Given the description of an element on the screen output the (x, y) to click on. 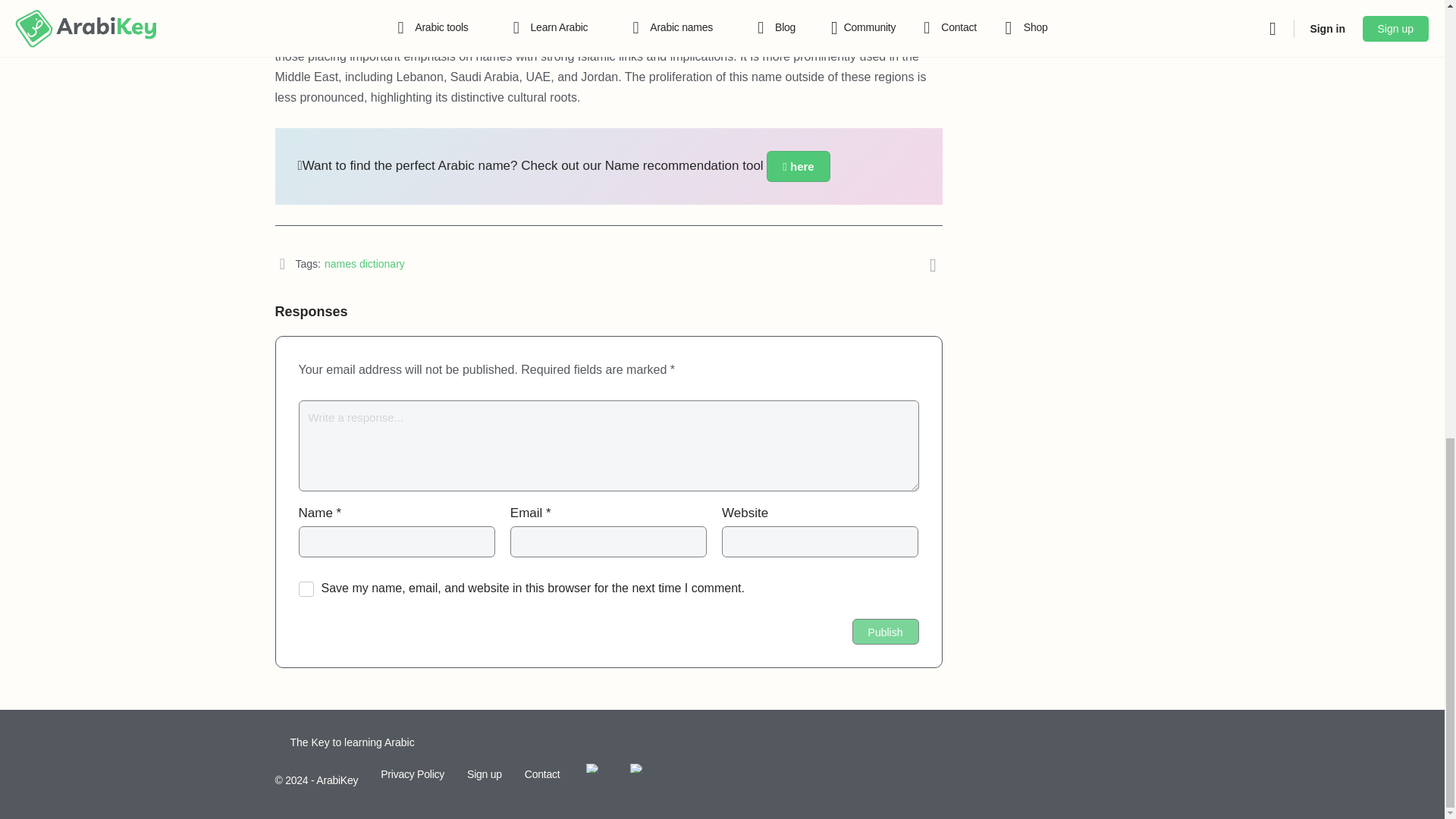
English (636, 768)
Publish (884, 631)
